Given the description of an element on the screen output the (x, y) to click on. 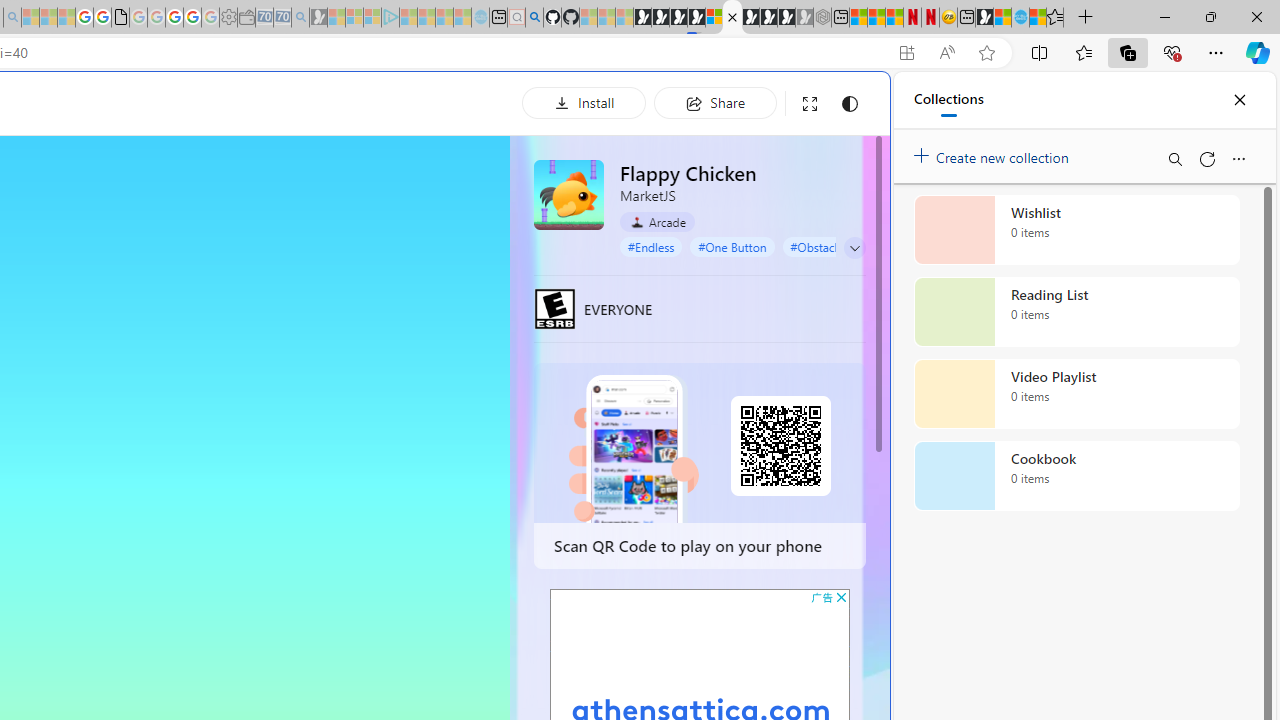
Install (583, 102)
Full screen (810, 103)
Wishlist collection, 0 items (1076, 229)
Search or enter web address (343, 191)
Sign in to your account (714, 17)
Share (715, 102)
